Given the description of an element on the screen output the (x, y) to click on. 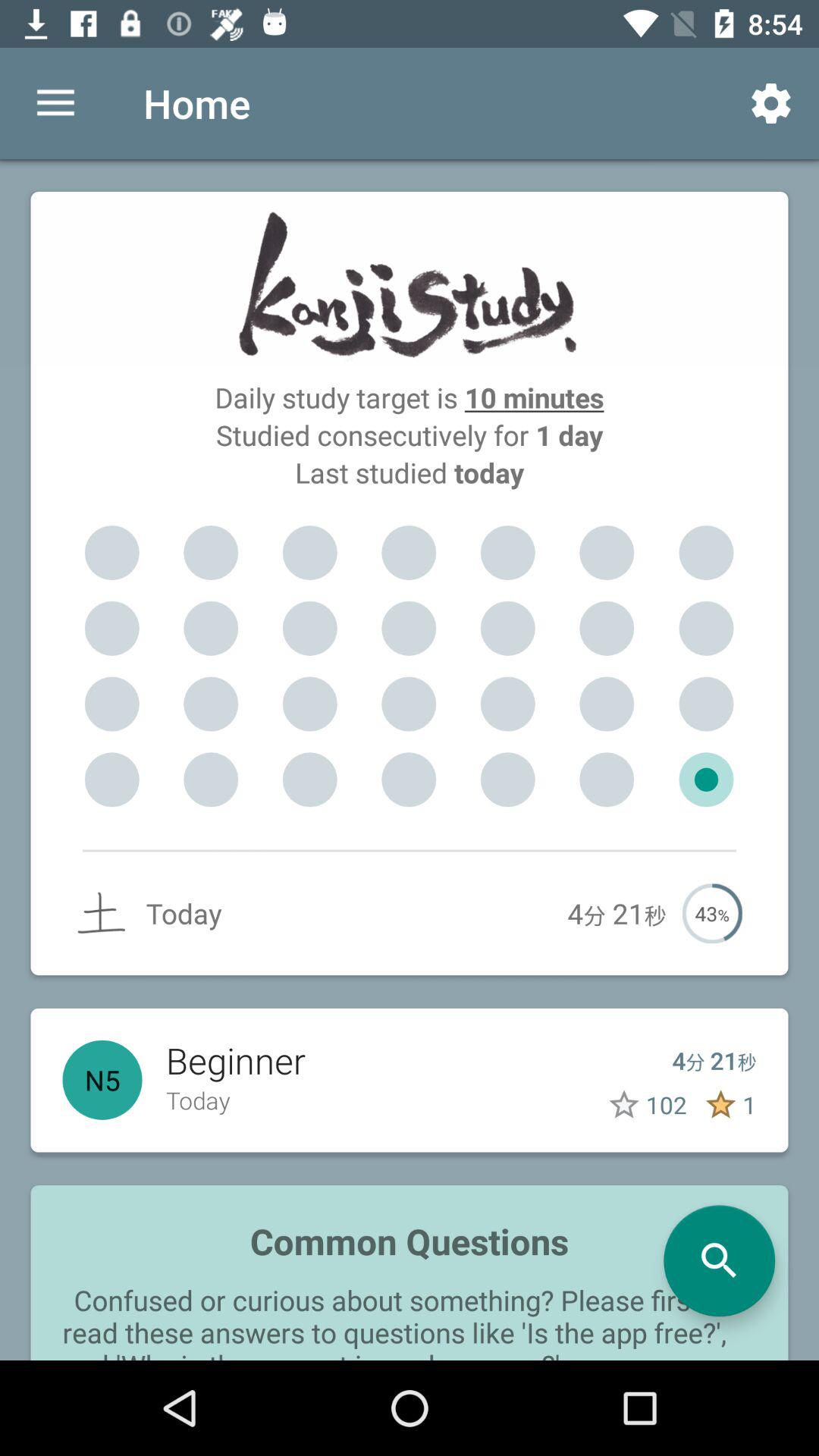
open item below last studied today item (507, 552)
